Given the description of an element on the screen output the (x, y) to click on. 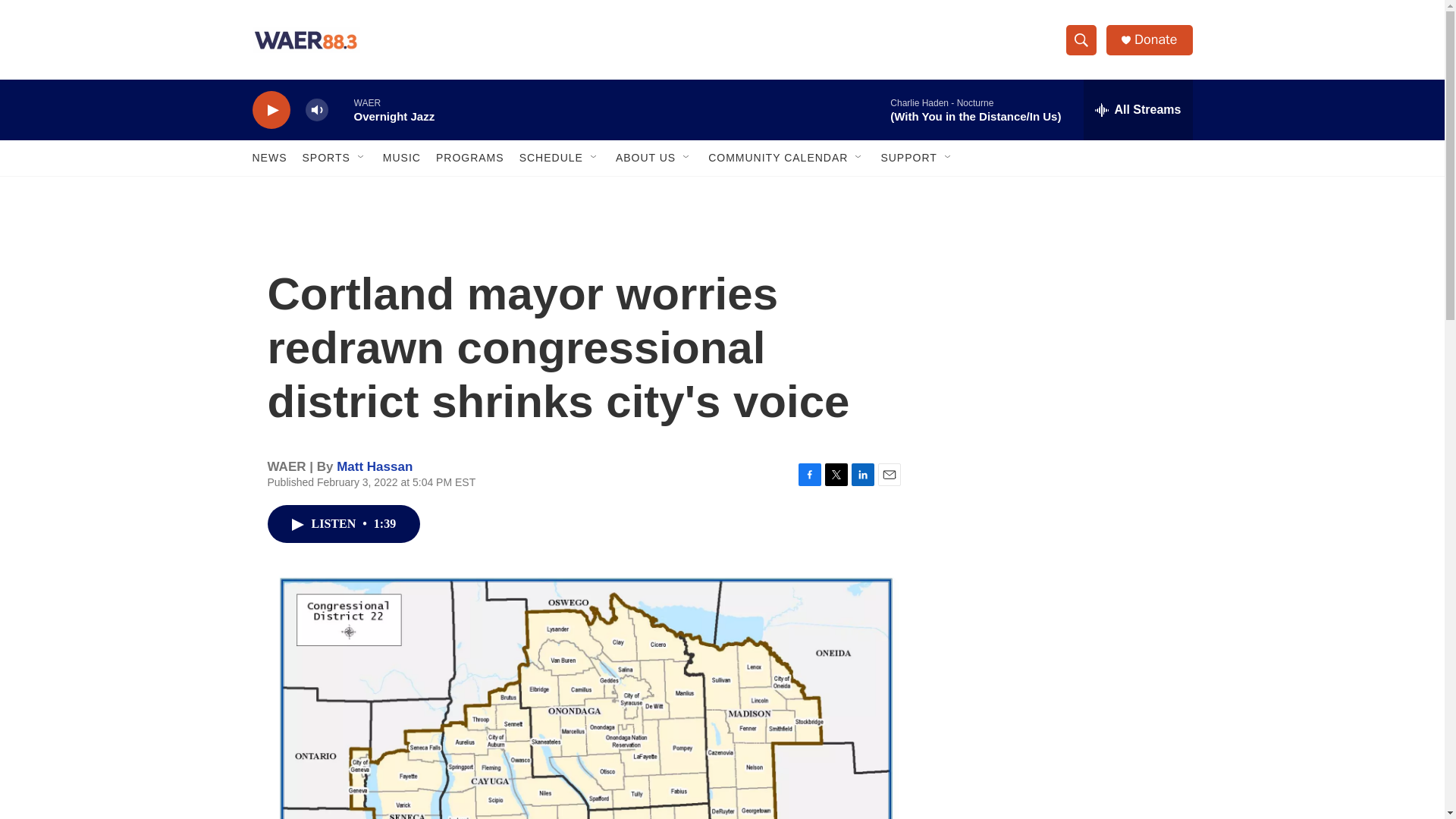
3rd party ad content (1062, 536)
3rd party ad content (1062, 740)
3rd party ad content (1062, 316)
